Given the description of an element on the screen output the (x, y) to click on. 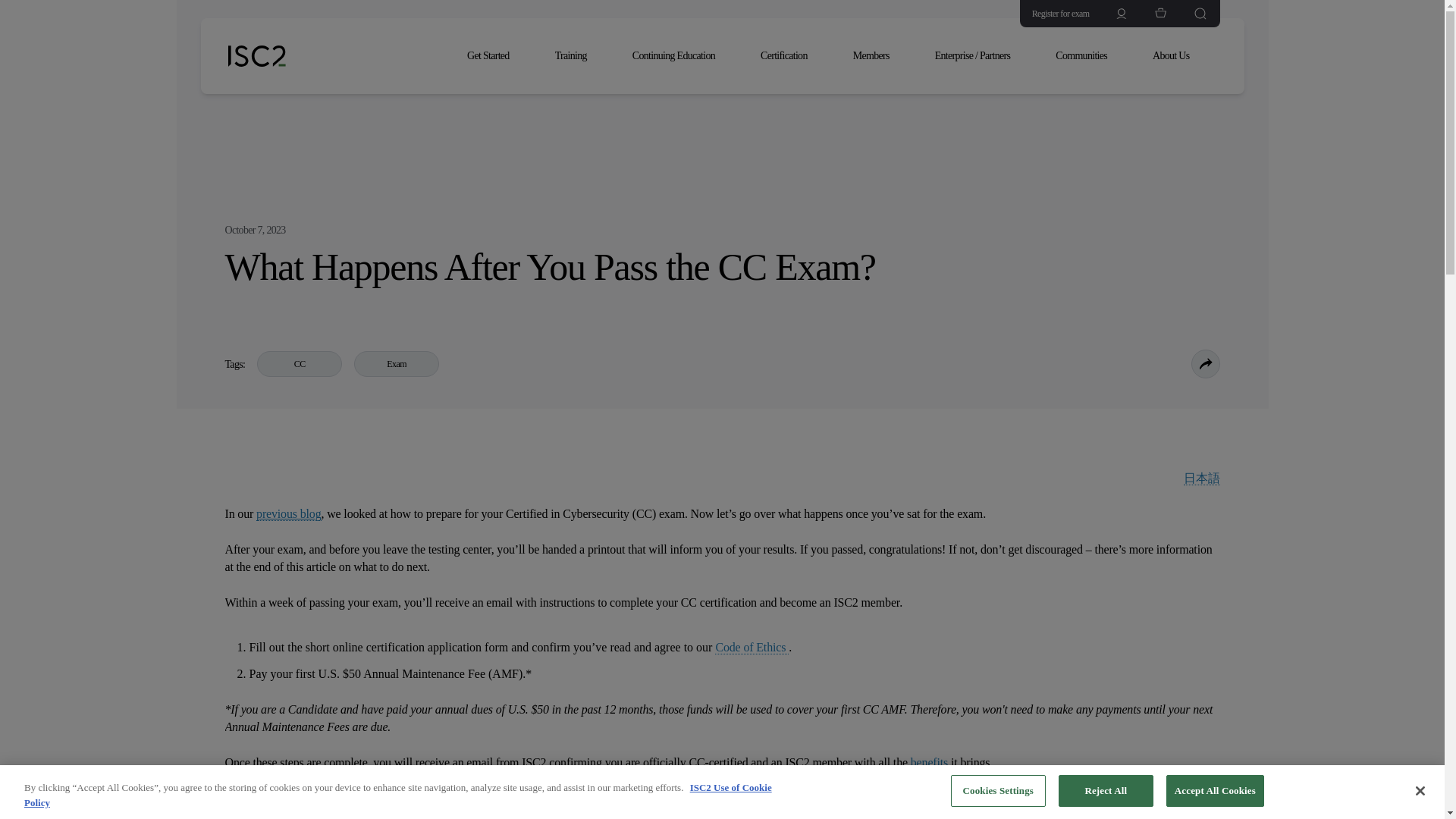
Register for exam (1054, 13)
Code of Ethics (751, 647)
CC (299, 363)
previous blog (288, 513)
Get Started (495, 55)
Certification (791, 55)
Exam (396, 363)
Members (879, 55)
Register for exam (1054, 13)
Continuing Education (681, 55)
benefits (930, 762)
Training (578, 55)
